Given the description of an element on the screen output the (x, y) to click on. 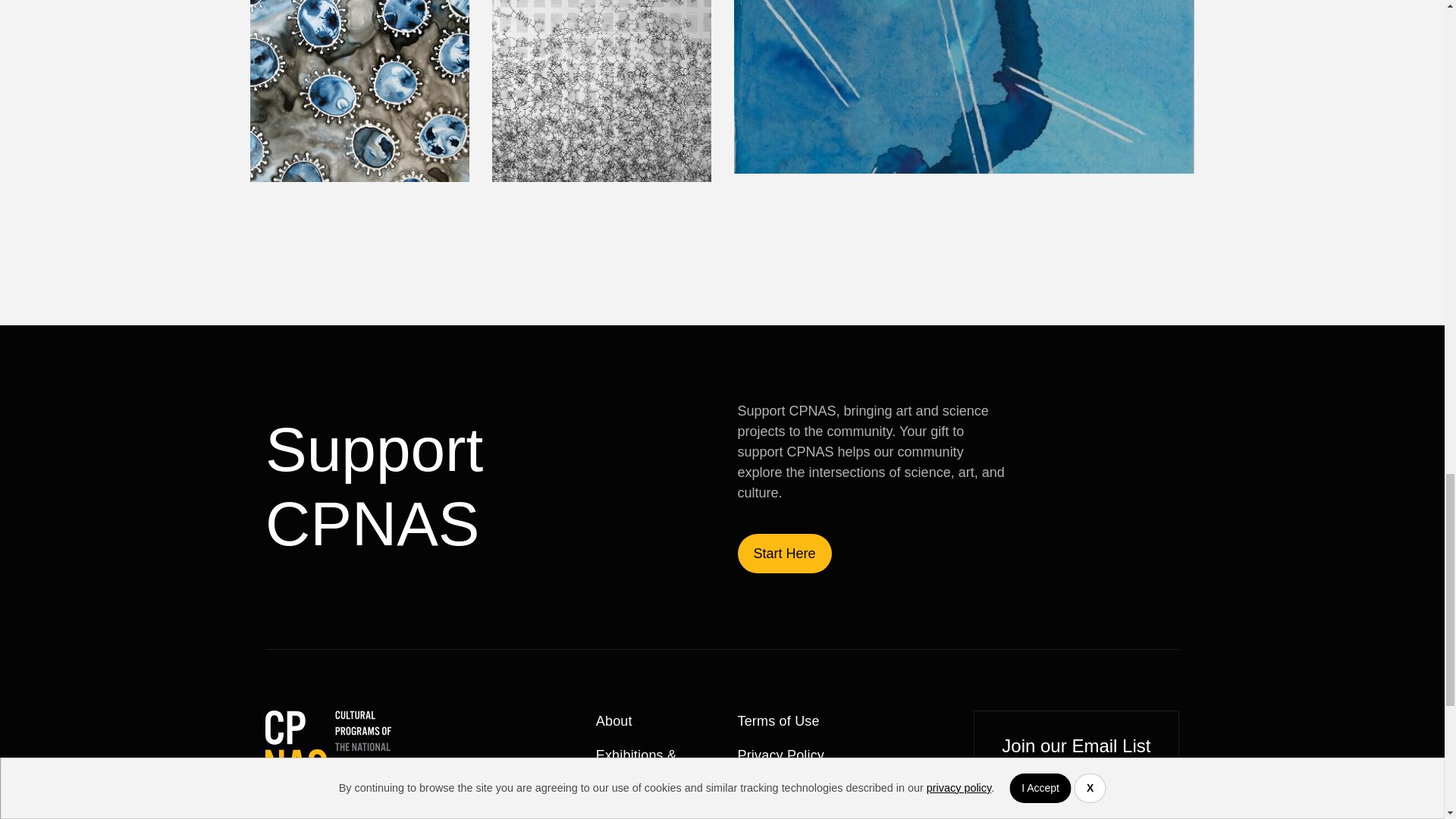
Start Here (783, 553)
In The Wake With the Bones of Our Ancestors (964, 87)
CPNAS-logo-invert (327, 746)
